Given the description of an element on the screen output the (x, y) to click on. 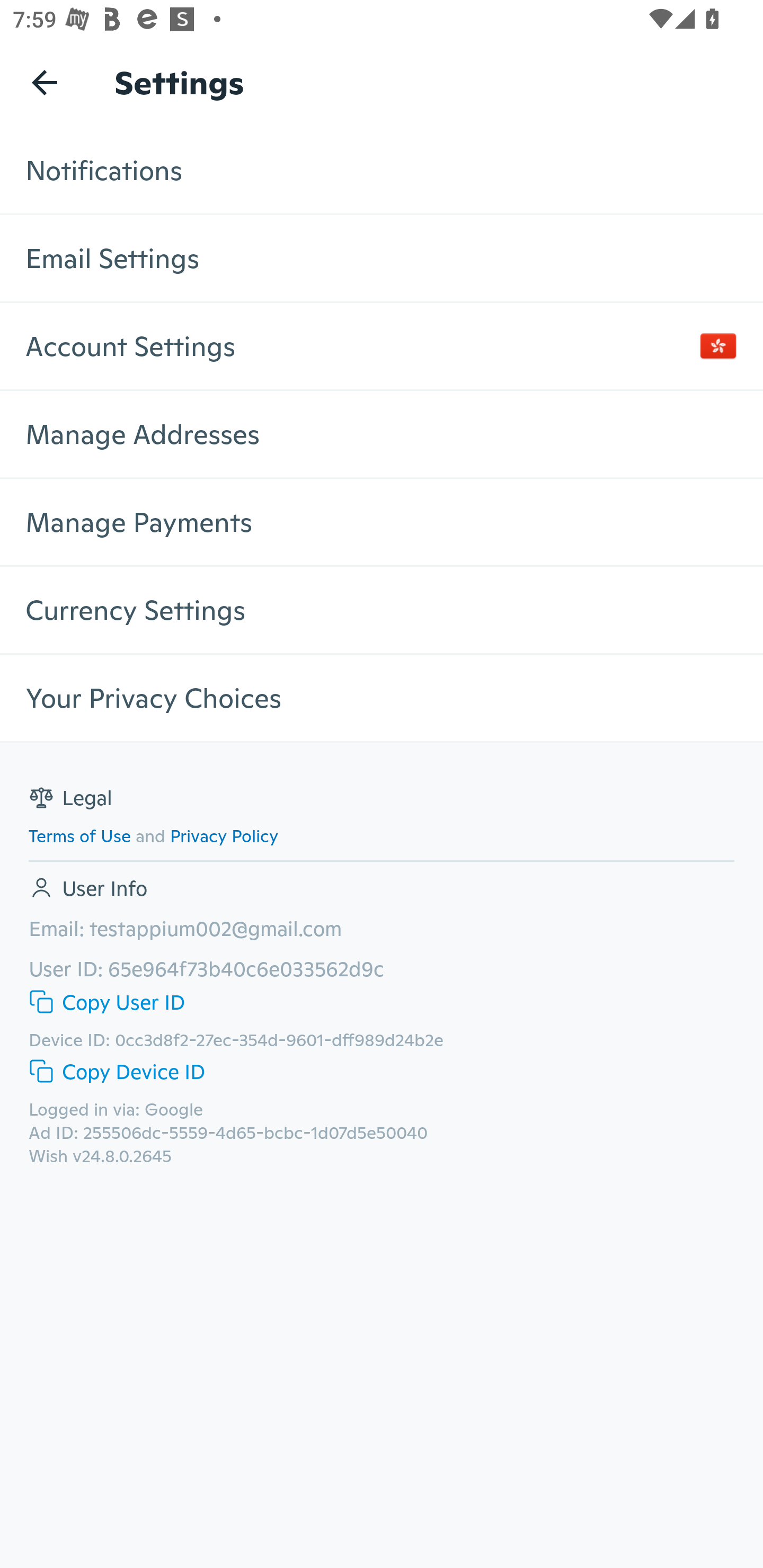
Navigate up (44, 82)
Notifications (381, 170)
Email Settings (381, 257)
Account Settings (381, 345)
Manage Addresses (381, 433)
Manage Payments (381, 521)
Currency Settings (381, 609)
Your Privacy Choices (381, 698)
